Given the description of an element on the screen output the (x, y) to click on. 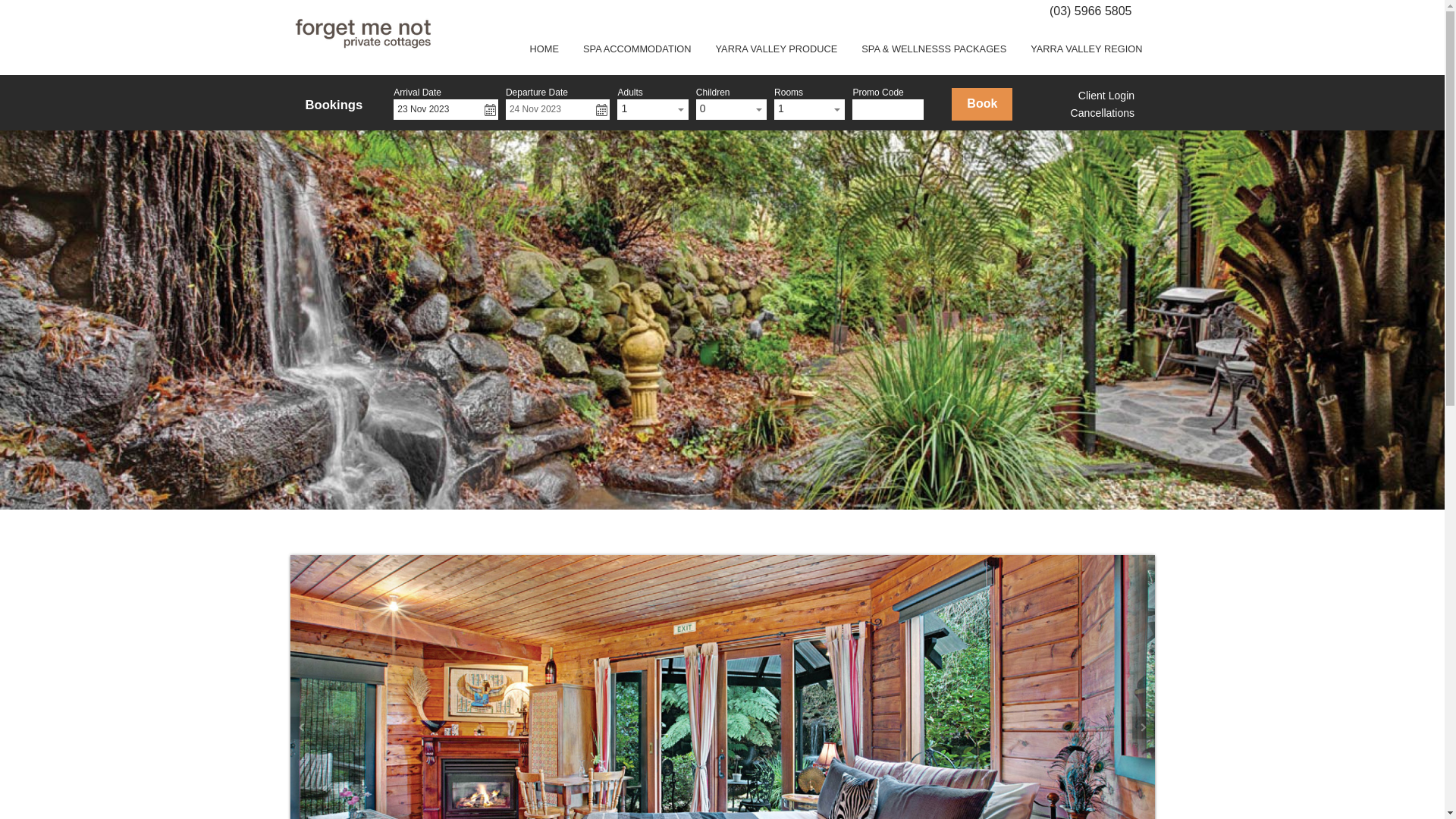
HOME Element type: text (544, 48)
YARRA VALLEY REGION Element type: text (1086, 48)
SPA ACCOMMODATION Element type: text (637, 48)
Client Login Element type: text (1106, 95)
SPA & WELLNESSS PACKAGES Element type: text (933, 48)
Book Element type: text (981, 103)
YARRA VALLEY PRODUCE Element type: text (776, 48)
(03) 5966 5805 Element type: text (1090, 10)
Cancellations Element type: text (1102, 112)
